Given the description of an element on the screen output the (x, y) to click on. 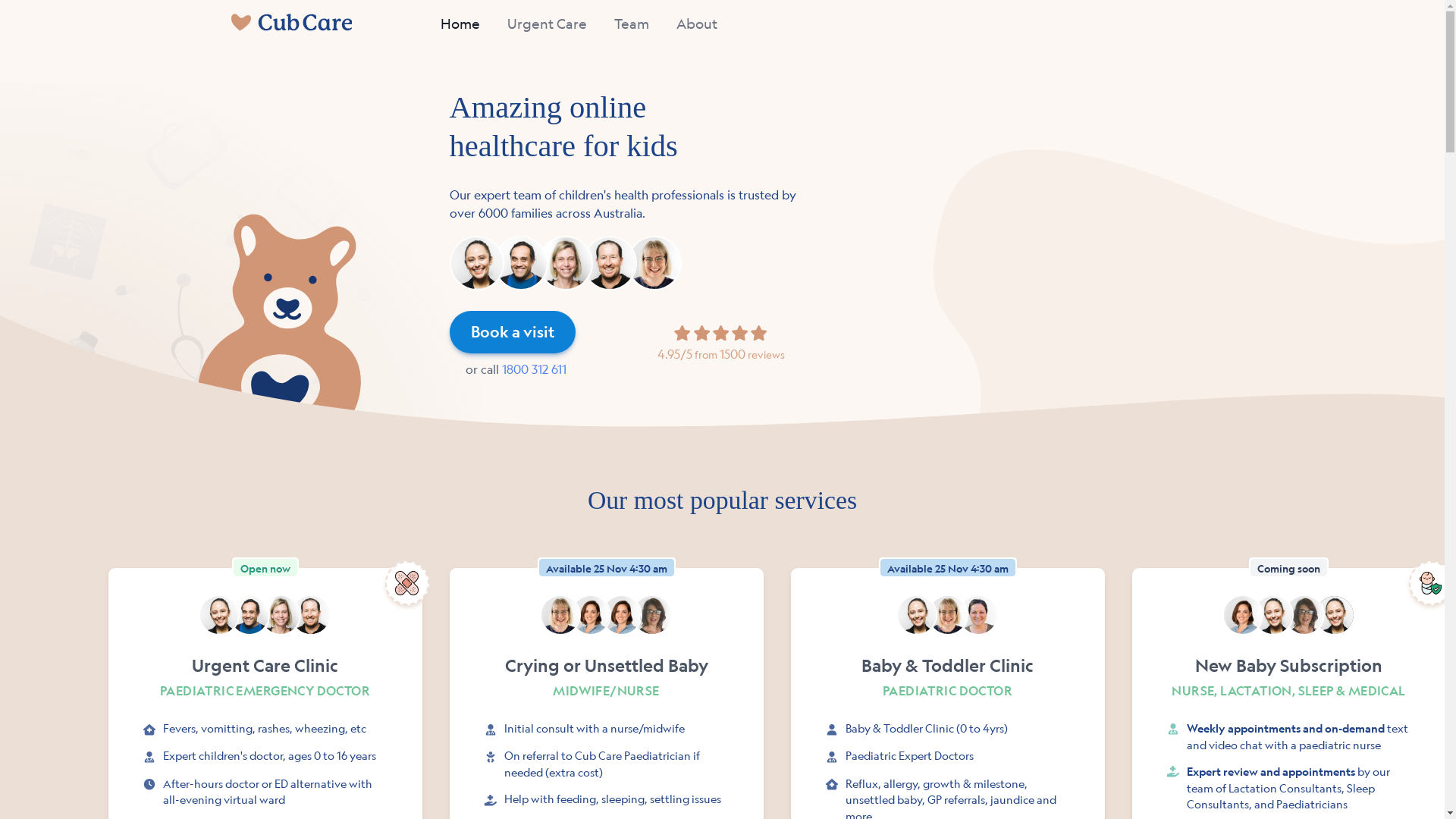
About Element type: text (697, 23)
Luisa Orellana Element type: hover (218, 614)
Emma Welsman Element type: hover (559, 614)
Dave Wood Element type: hover (310, 614)
Jodie Moar Element type: hover (1303, 614)
Geoff Pearce Element type: hover (609, 262)
Home Element type: text (456, 23)
Bek Barclay Element type: hover (1272, 614)
Emma Welsman Element type: hover (653, 262)
Book a visit Element type: text (518, 341)
Team Element type: text (634, 23)
Lana Allos Element type: hover (651, 614)
Elspeth Best Element type: hover (977, 614)
Deb Shellshear Element type: hover (280, 614)
Luisa Orellana Element type: hover (475, 262)
Luisa Orellana Element type: hover (916, 614)
Deb Shellshear Element type: hover (565, 262)
Urgent Care Element type: text (545, 23)
Veevek Thankey Element type: hover (520, 262)
Emma Welsman Element type: hover (946, 614)
Bek Barclay Element type: hover (621, 614)
1800 312 611 Element type: text (522, 406)
Rebecca Cavallaro Element type: hover (1242, 614)
Rebecca Cavallaro Element type: hover (590, 614)
Lauren Farrell Element type: hover (1334, 614)
Veevek Thankey Element type: hover (249, 614)
